Given the description of an element on the screen output the (x, y) to click on. 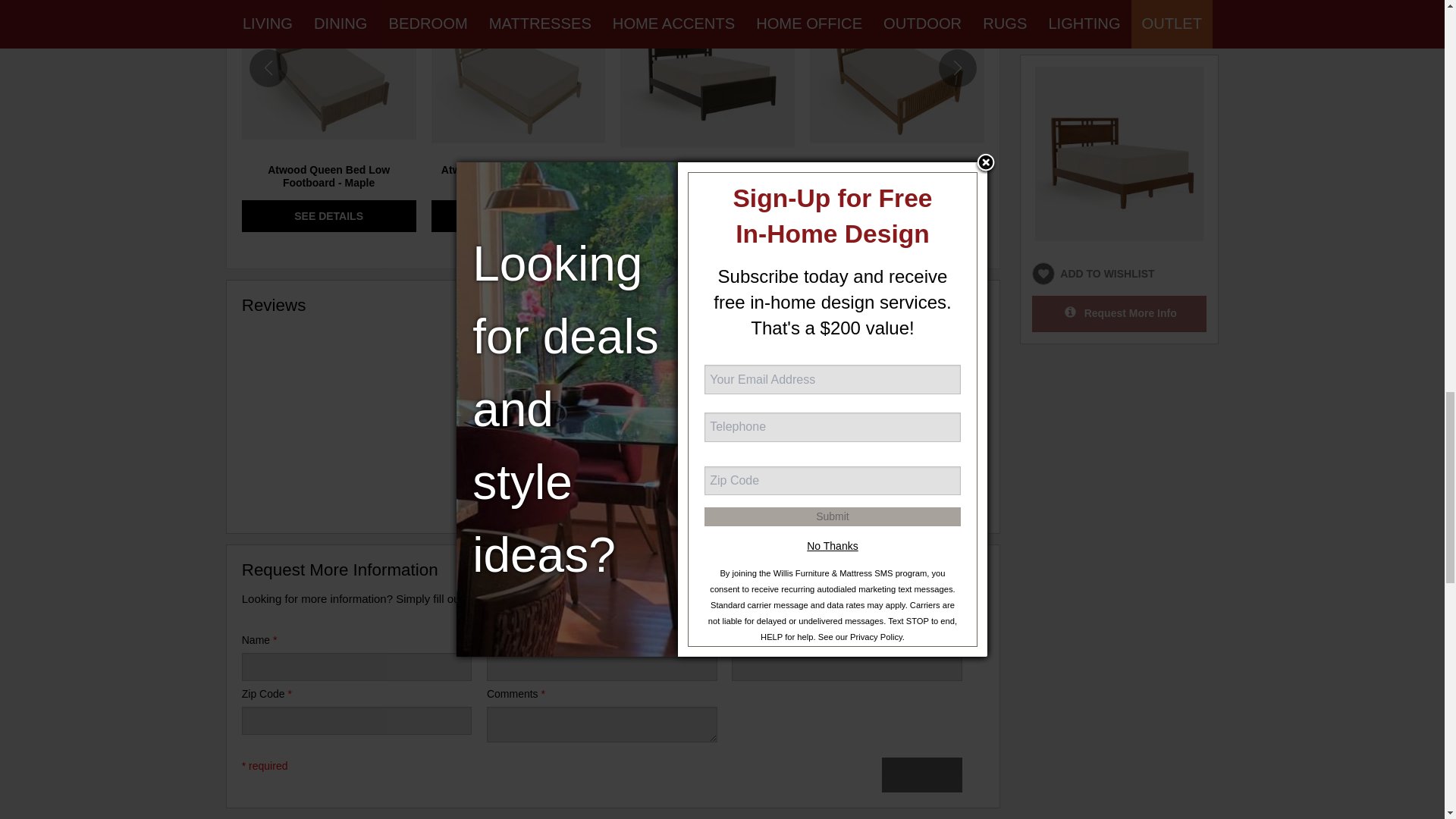
Add to Wishlist (593, 2)
See Details of Atwood Queen Bed Low Footboard - Maple (328, 215)
Atwood Queen Bed Low Footboard - Maple (328, 176)
Atwood Queen Gridwork Bed - Wormy Maple (518, 176)
Add to Wishlist (403, 2)
See Details of Atwood Queen Gridwork Bed - Wormy Maple (517, 215)
